Given the description of an element on the screen output the (x, y) to click on. 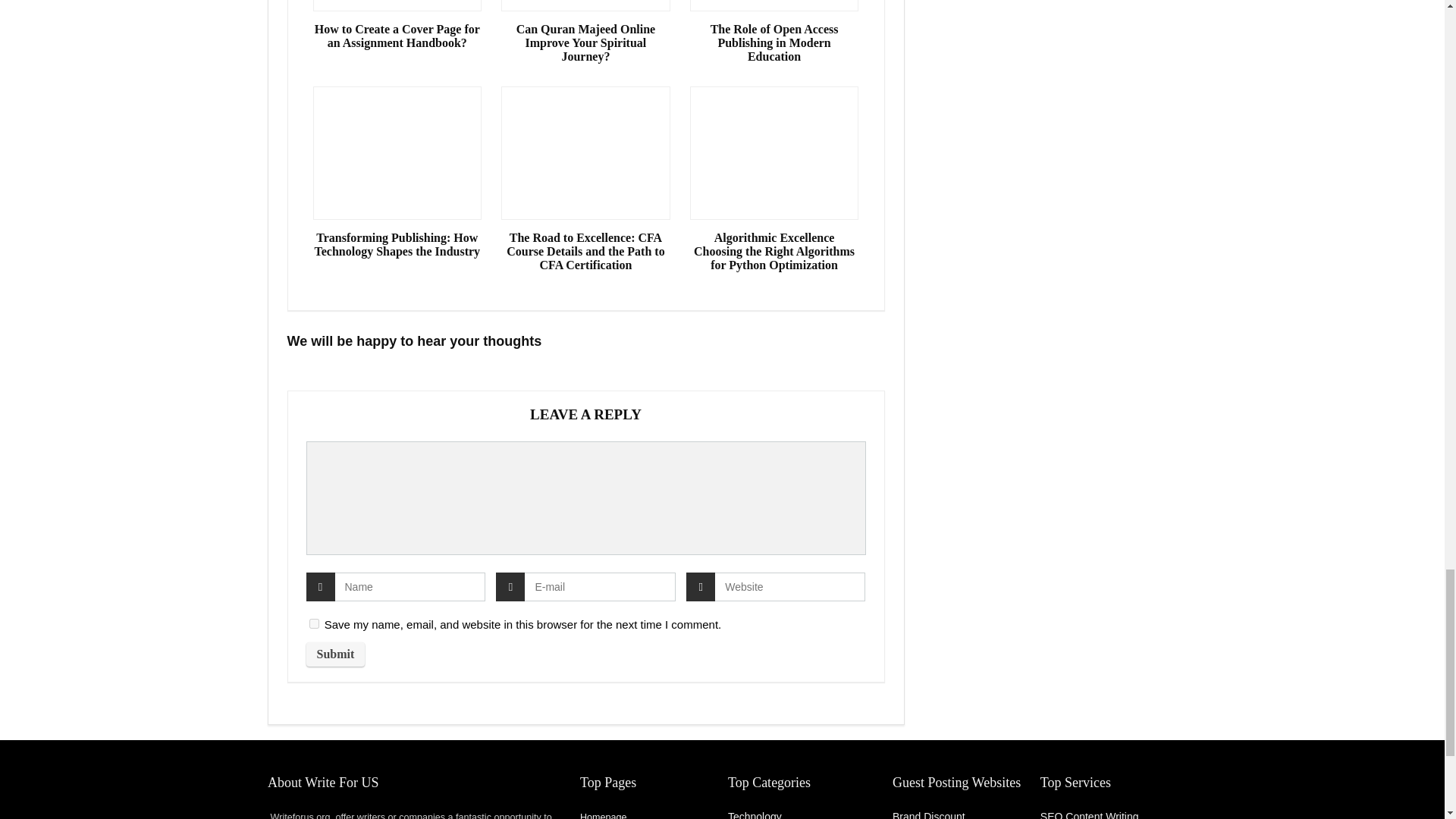
Can Quran Majeed Online Improve Your Spiritual Journey? (584, 42)
Transforming Publishing: How Technology Shapes the Industry (397, 244)
yes (313, 623)
How to Create a Cover Page for an Assignment Handbook? (397, 35)
The Role of Open Access Publishing in Modern Education (774, 42)
Submit (335, 654)
Can Quran Majeed Online Improve Your Spiritual Journey? (584, 42)
How to Create a Cover Page for an Assignment Handbook? (397, 35)
